Given the description of an element on the screen output the (x, y) to click on. 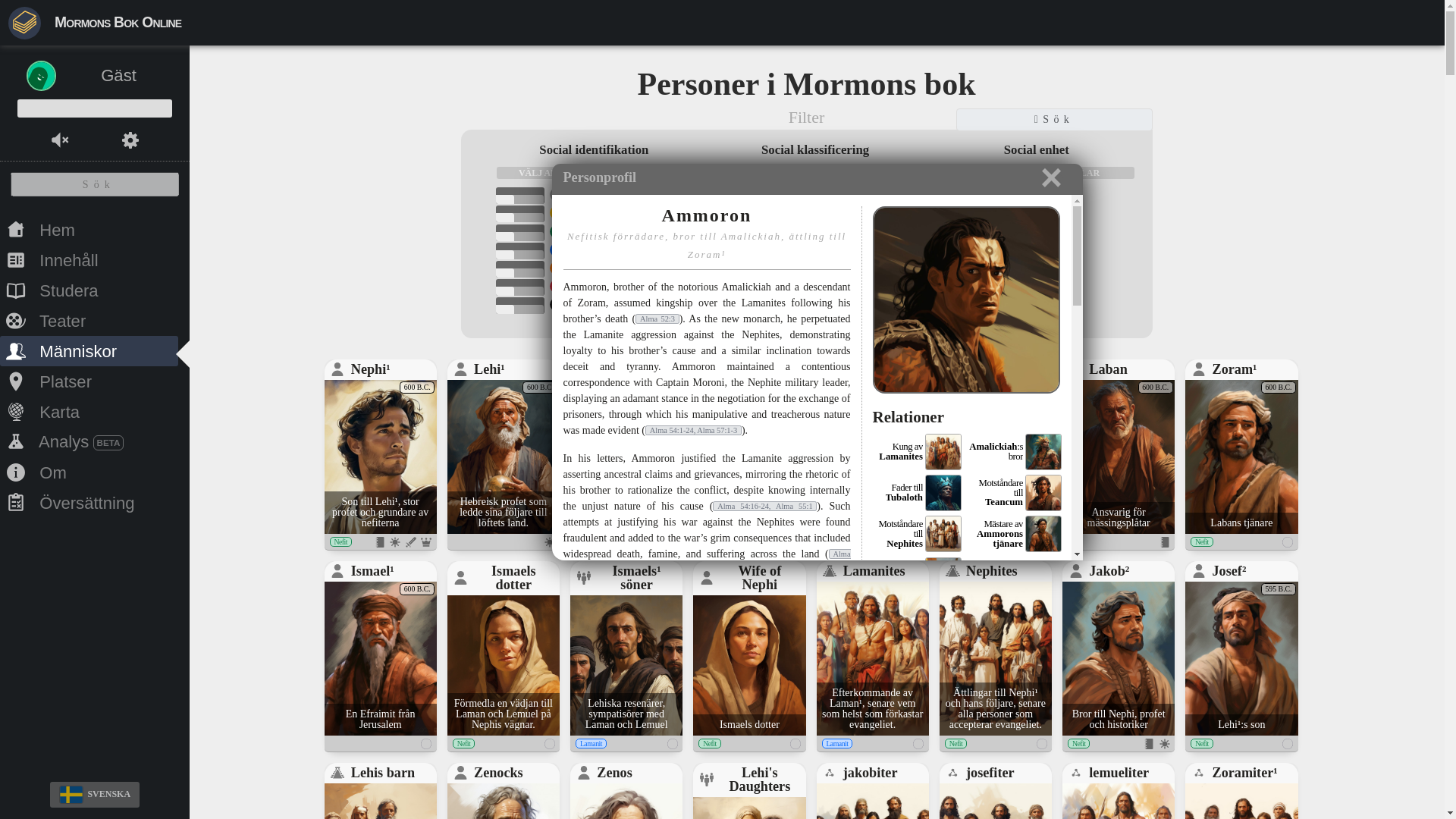
Karta (88, 411)
SVENSKA (94, 794)
Analys BETA (88, 441)
Attacks Nephites (909, 646)
Alma 62:35 (706, 561)
Appointed king of Lamanites (929, 634)
Alma 54:1-24, Alma 57:1-3 (693, 429)
Teater (921, 493)
Alma 52:3 (88, 320)
Proposes prisoner exchange (918, 452)
Om (656, 318)
Platser (927, 660)
Studera (88, 472)
